Given the description of an element on the screen output the (x, y) to click on. 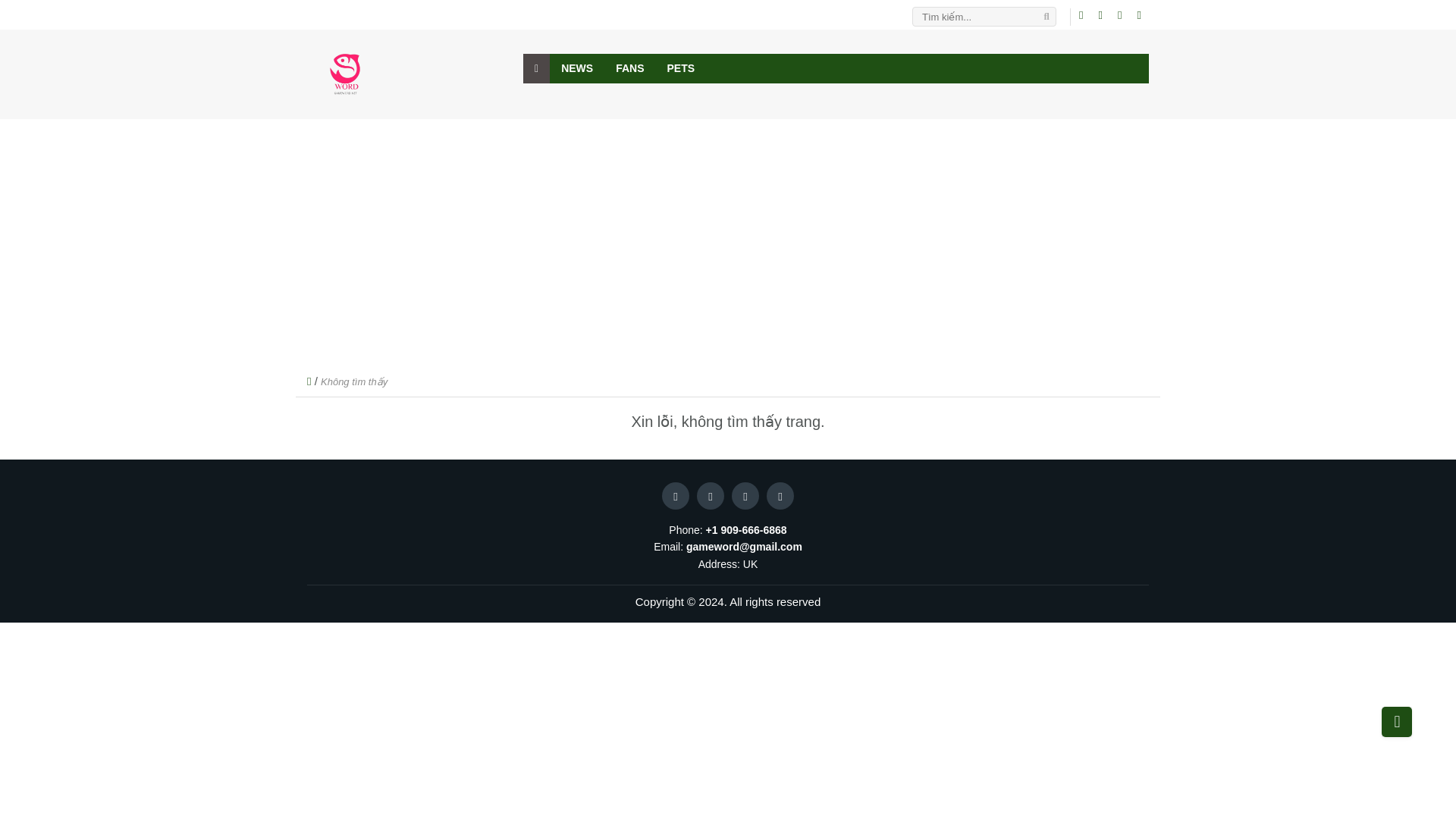
NEWS (577, 68)
PETS (680, 68)
FANS (629, 68)
